Given the description of an element on the screen output the (x, y) to click on. 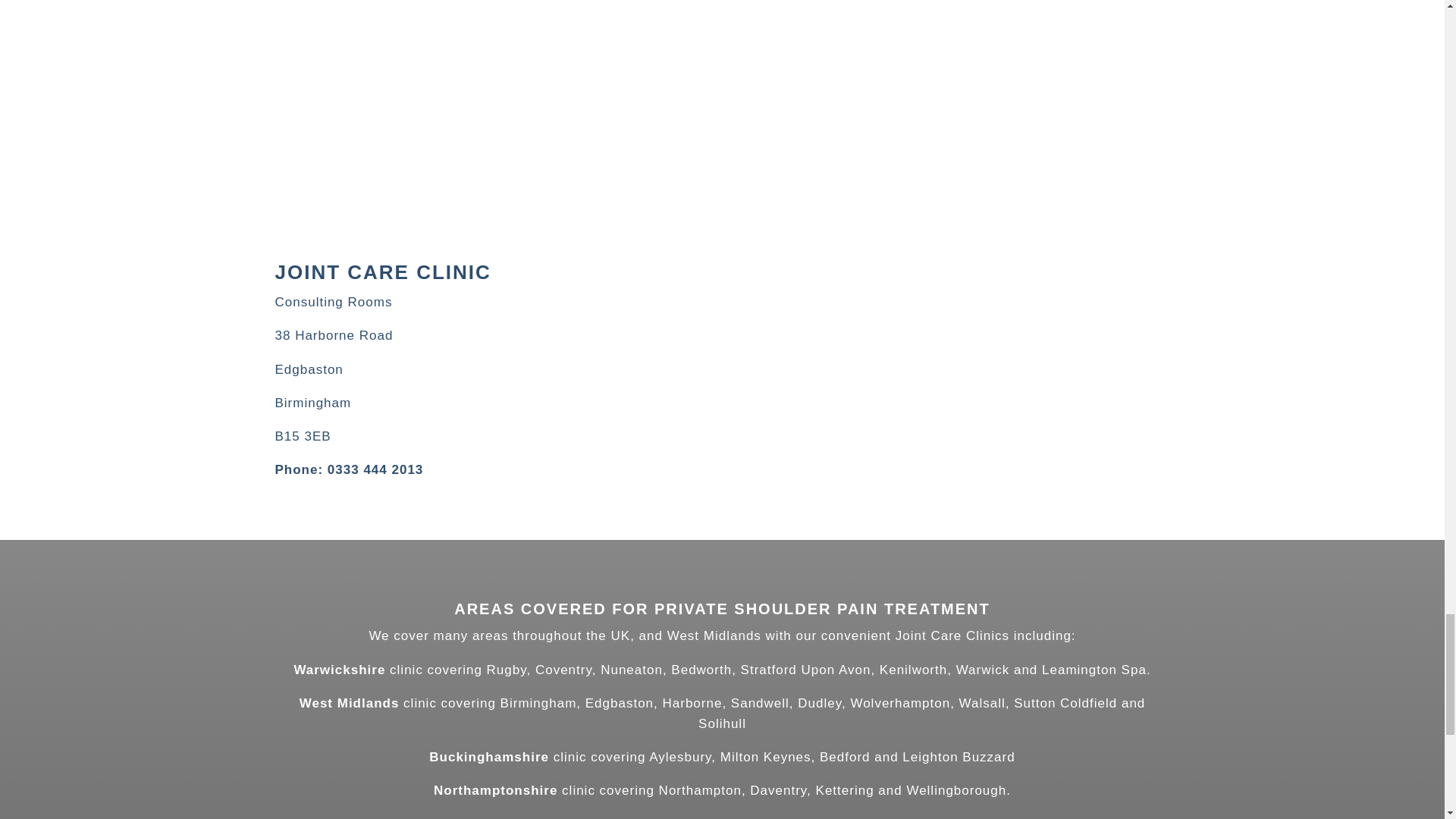
Joint Care Clinic Birmingham (902, 196)
Birmingham Joint Care Clinic (180, 196)
